Given the description of an element on the screen output the (x, y) to click on. 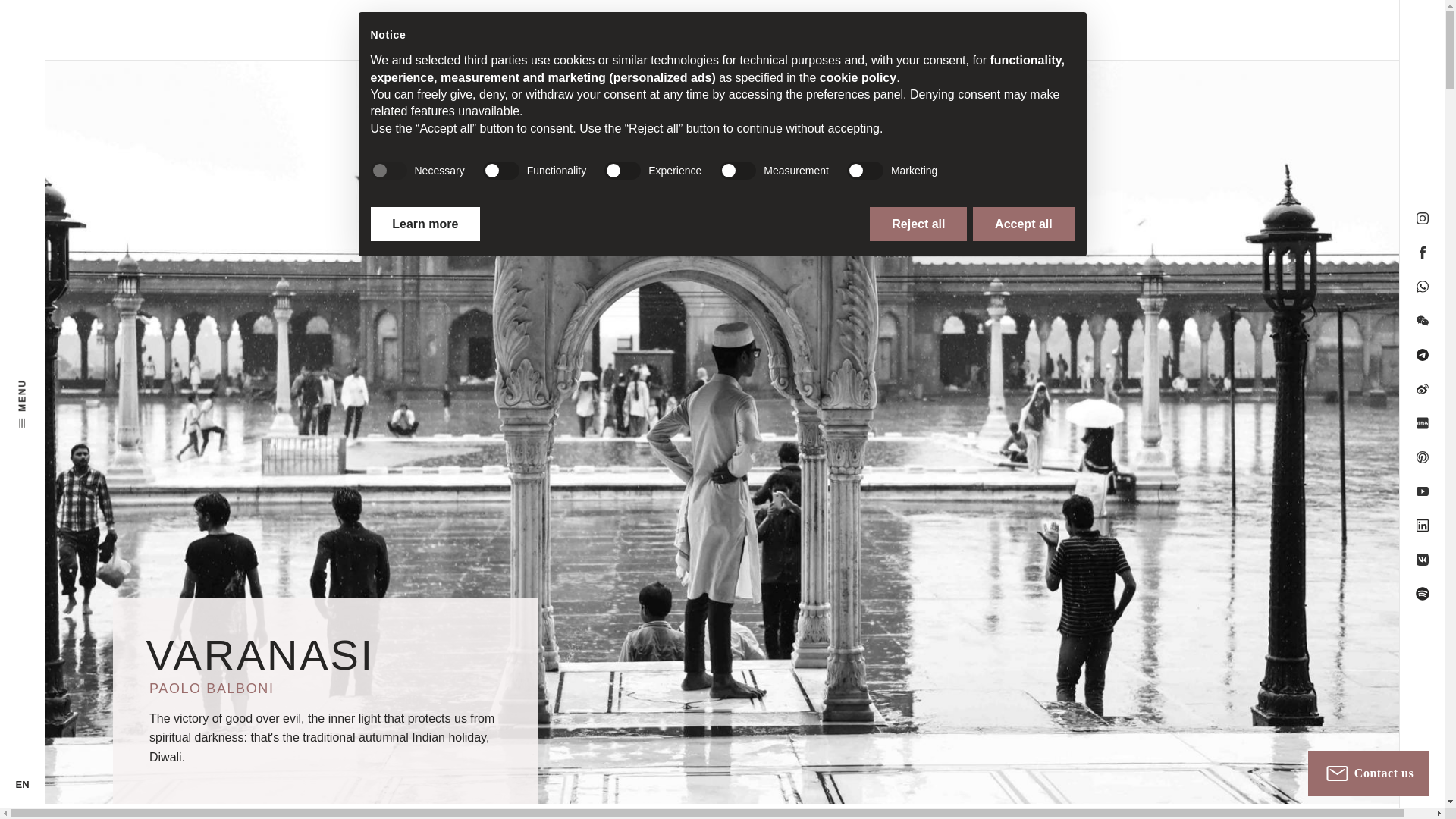
false (622, 170)
false (737, 170)
true (387, 170)
false (865, 170)
false (501, 170)
